Given the description of an element on the screen output the (x, y) to click on. 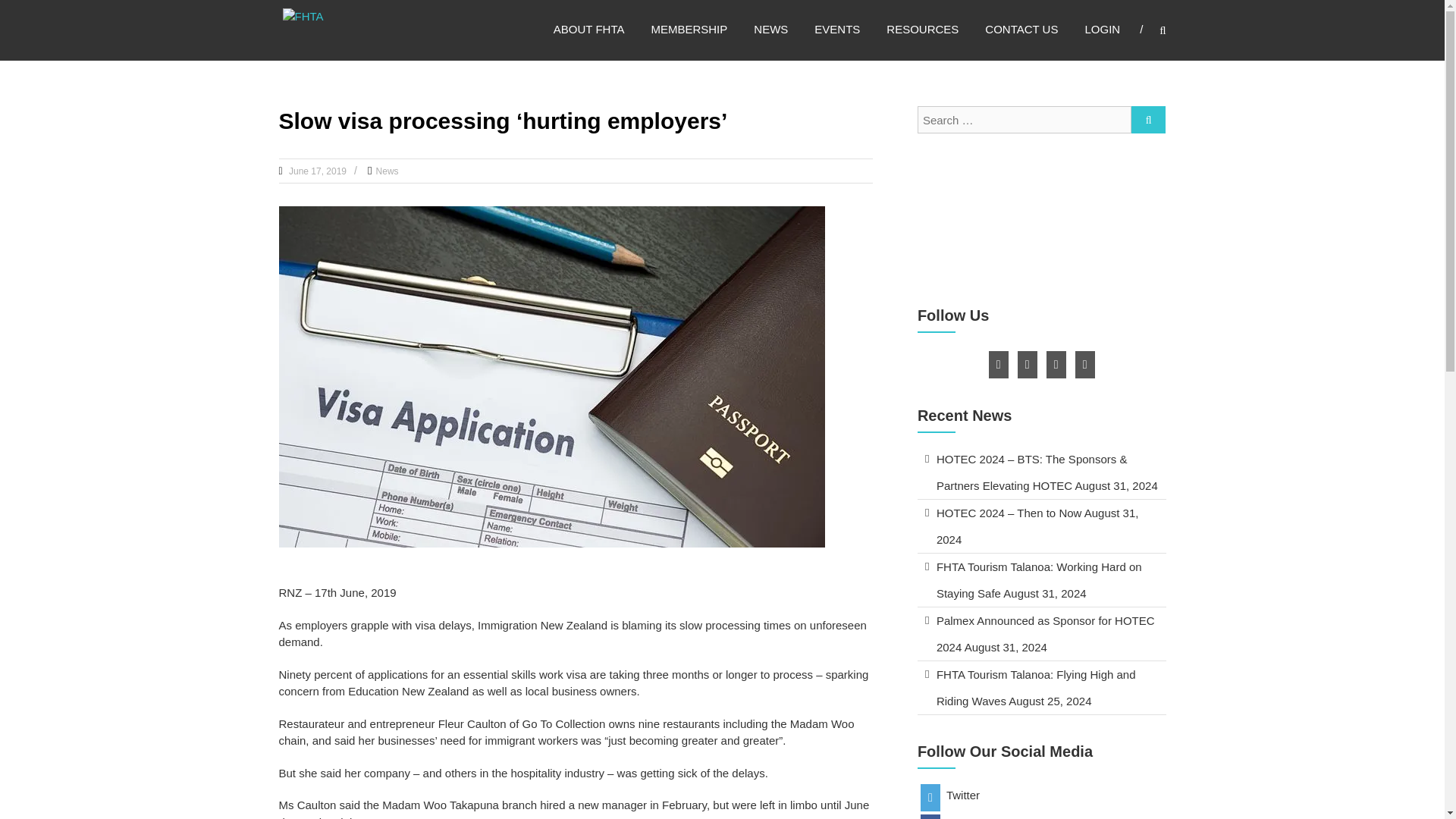
Search (1232, 409)
CONTACT US (1021, 29)
MEMBERSHIP (688, 29)
RESOURCES (922, 29)
10:18 am (316, 171)
EVENTS (836, 29)
ABOUT FHTA (588, 29)
News (386, 171)
June 17, 2019 (316, 171)
